Given the description of an element on the screen output the (x, y) to click on. 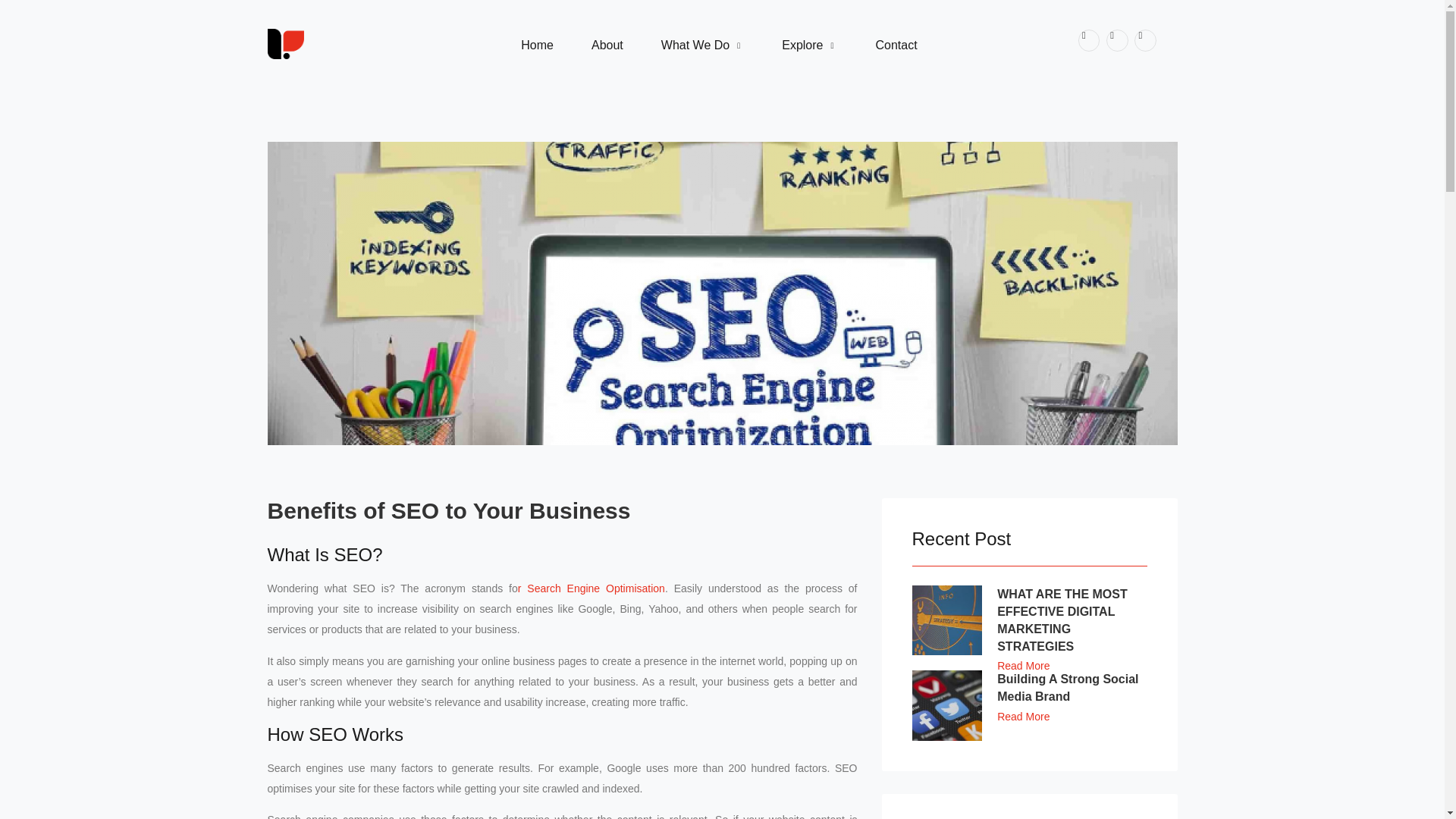
About (719, 43)
Benefits of SEO to Your Business (607, 44)
Recent Post (561, 510)
Home (1029, 539)
What We Do (537, 44)
